Given the description of an element on the screen output the (x, y) to click on. 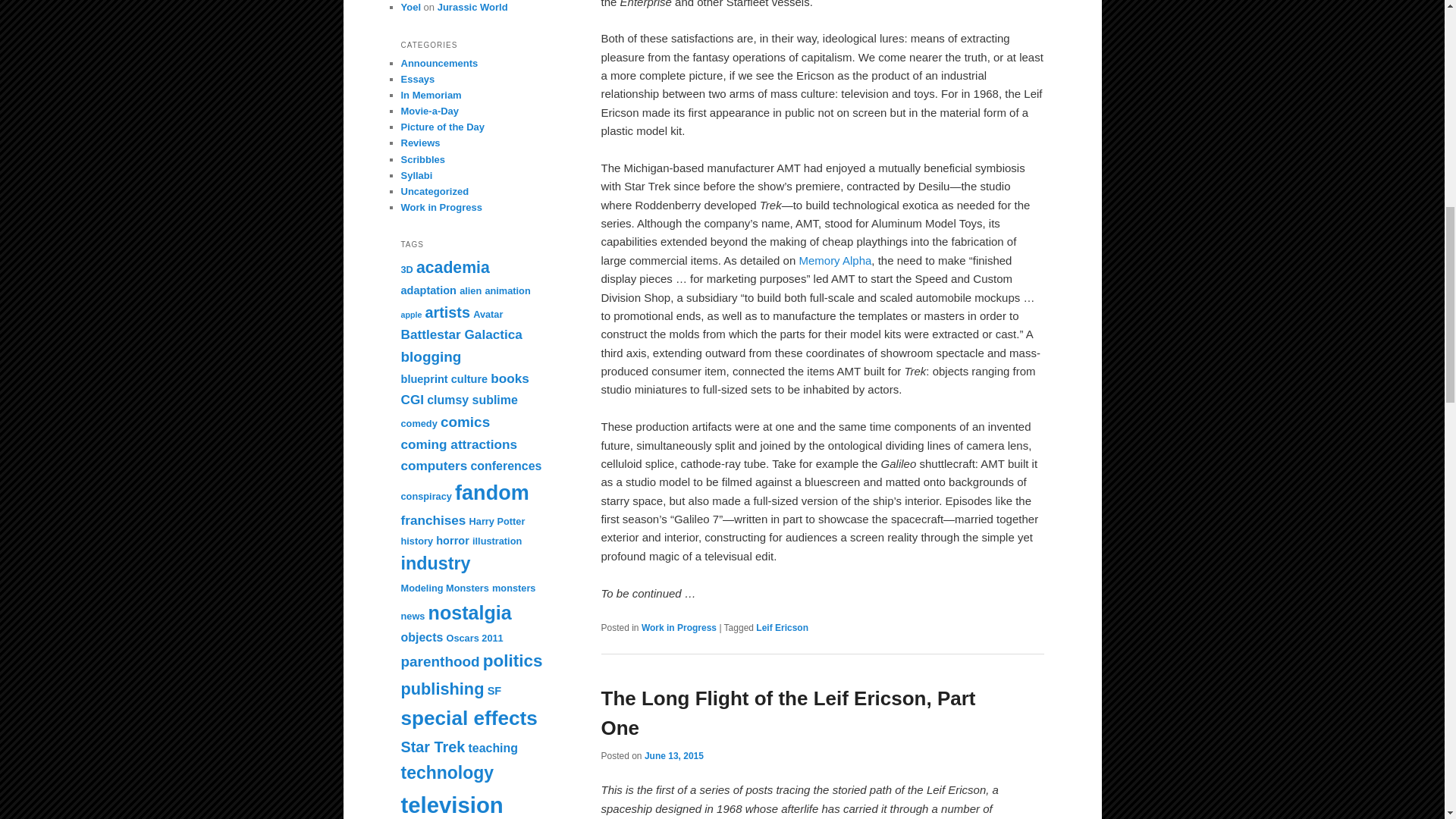
Work in Progress (679, 627)
Yoel (410, 7)
June 13, 2015 (674, 756)
Jurassic World (473, 7)
3:56 pm (674, 756)
The Long Flight of the Leif Ericson, Part One (787, 713)
Memory Alpha (833, 259)
Leif Ericson (781, 627)
